Given the description of an element on the screen output the (x, y) to click on. 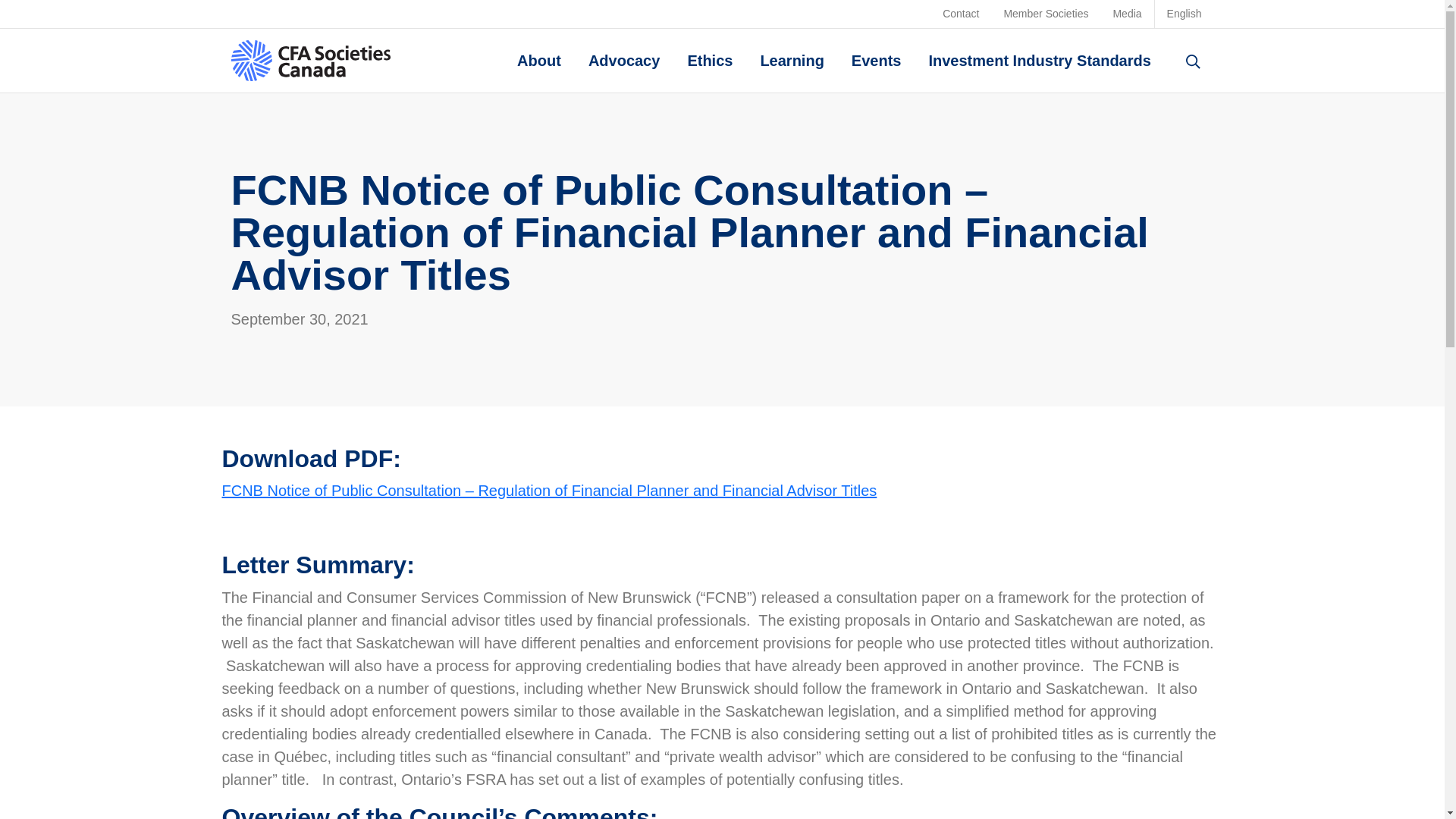
Contact (960, 13)
Ethics (709, 60)
Member Societies (1045, 13)
Learning (791, 60)
Advocacy (624, 60)
Investment Industry Standards (1038, 60)
Media (1126, 13)
About (539, 60)
Events (876, 60)
English (1184, 13)
